Given the description of an element on the screen output the (x, y) to click on. 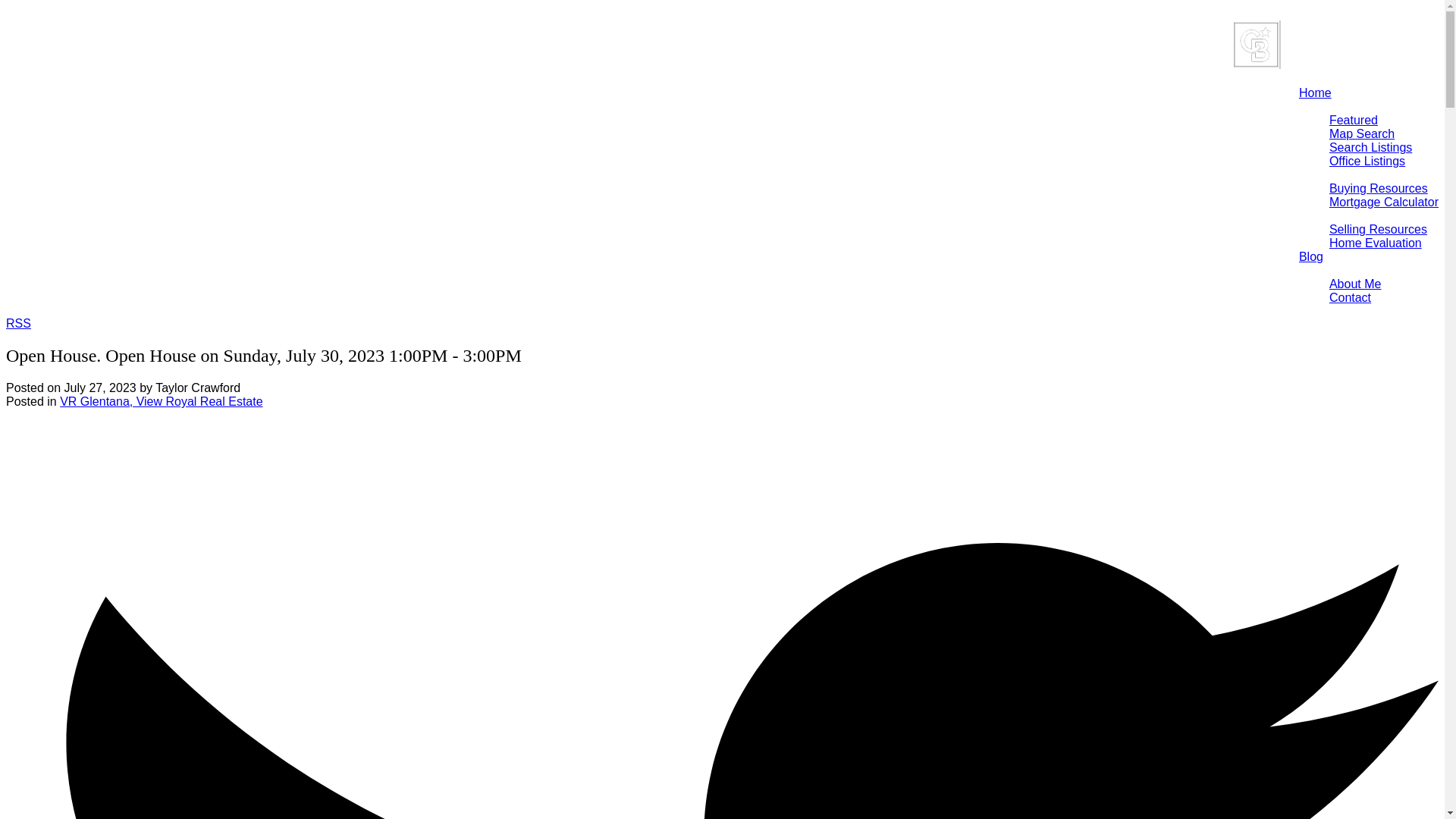
Contact (1350, 297)
Office Listings (1367, 160)
About Me (1354, 283)
Map Search (1361, 133)
Home Evaluation (1375, 242)
VR Glentana, View Royal Real Estate (160, 400)
Home (1315, 92)
Search Listings (1370, 146)
Buying Resources (1378, 187)
Featured (1353, 119)
